Given the description of an element on the screen output the (x, y) to click on. 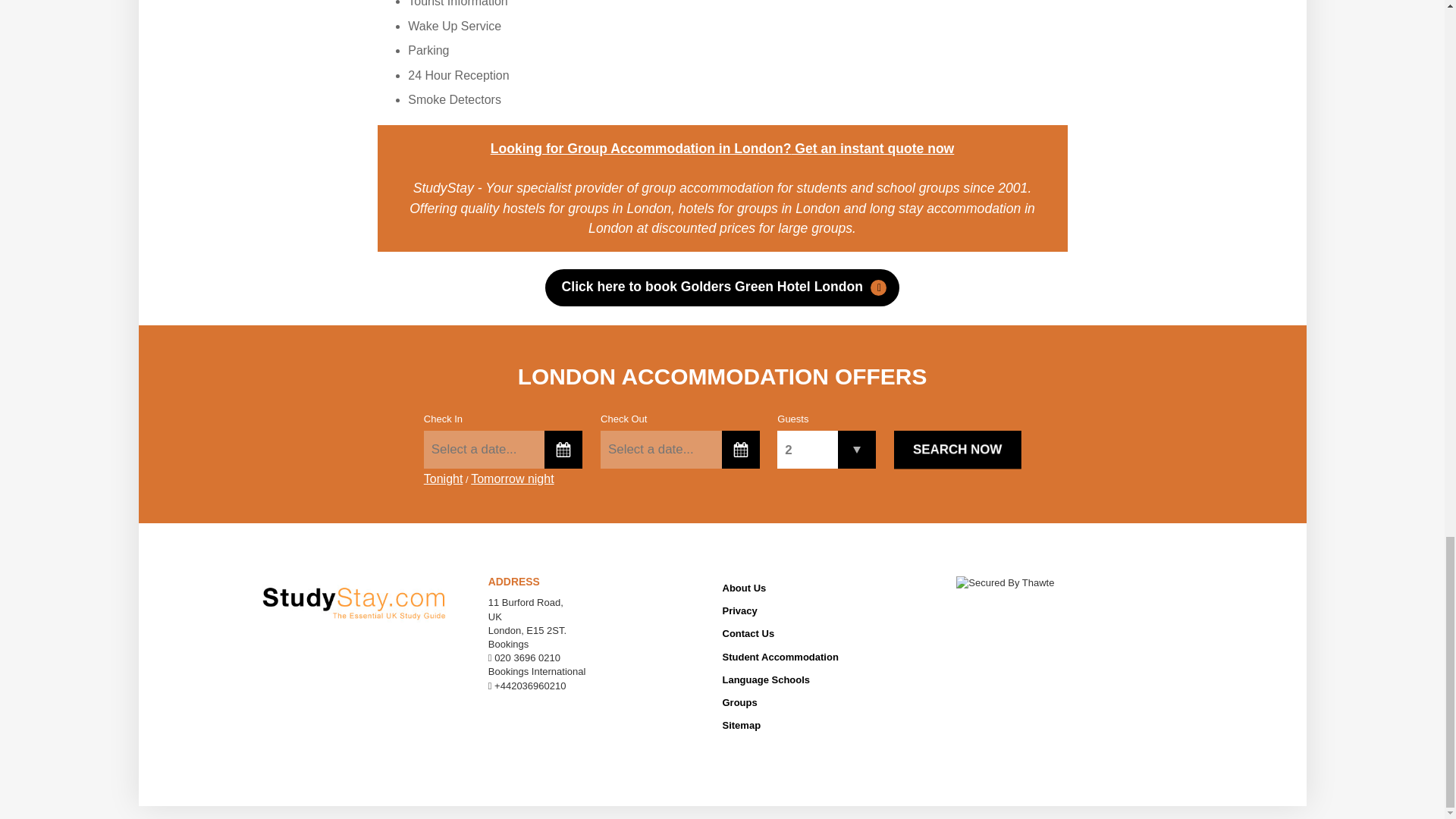
Golders Green Hotel London, London (721, 287)
London accommodation for student groups (871, 148)
Get an instant quote now (871, 148)
Privacy (833, 610)
Search Now (956, 449)
Groups (833, 702)
Student Accommodation (833, 657)
Looking for Group Accommodation in London? (641, 148)
London accommodation for student groups (641, 148)
Contact Us (833, 633)
Language Schools (833, 680)
Tonight (443, 482)
Search Now (956, 449)
Tomorrow night (511, 482)
About Us (833, 588)
